Given the description of an element on the screen output the (x, y) to click on. 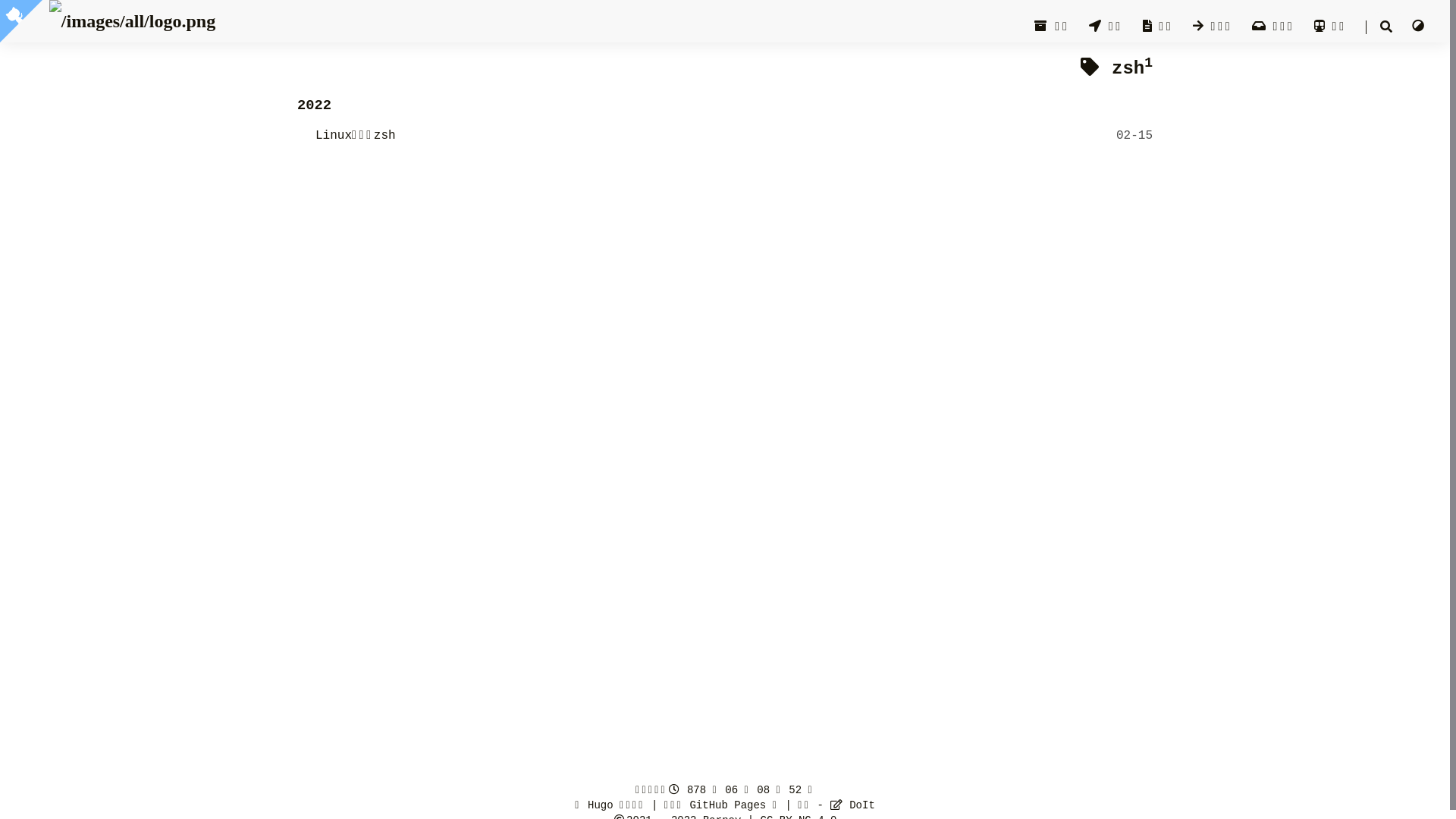
Hugo Element type: text (600, 805)
/images/all/logo.png Element type: hover (133, 21)
DoIt Element type: text (852, 805)
GitHub Pages Element type: text (727, 805)
Barney's Blog Element type: hover (133, 31)
